Given the description of an element on the screen output the (x, y) to click on. 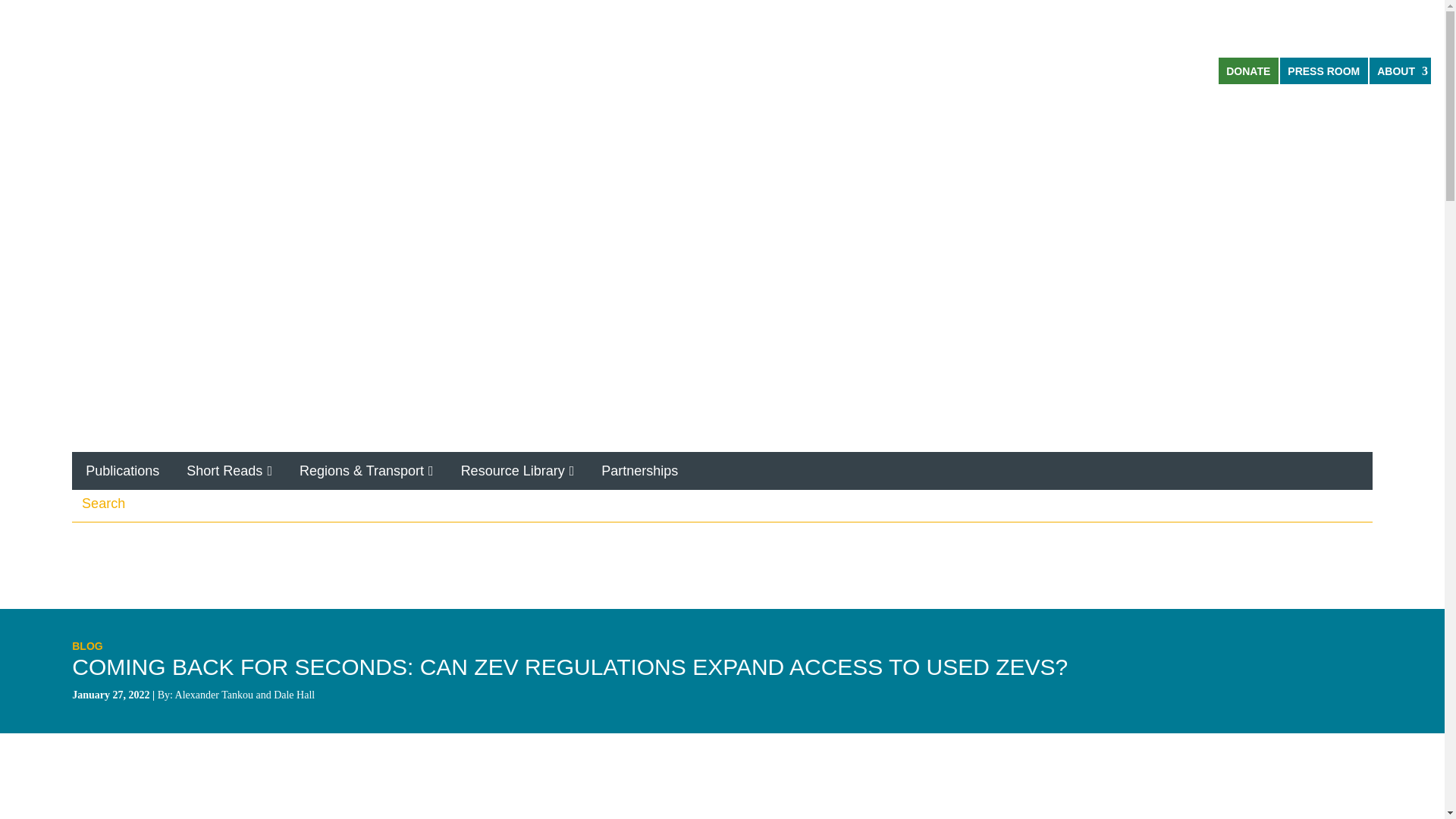
DONATE (1248, 70)
Short Reads (229, 470)
ABOUT (1400, 70)
Search (1359, 499)
Resource Library (517, 470)
Search (1359, 499)
PRESS ROOM (1323, 70)
Publications (122, 470)
